Given the description of an element on the screen output the (x, y) to click on. 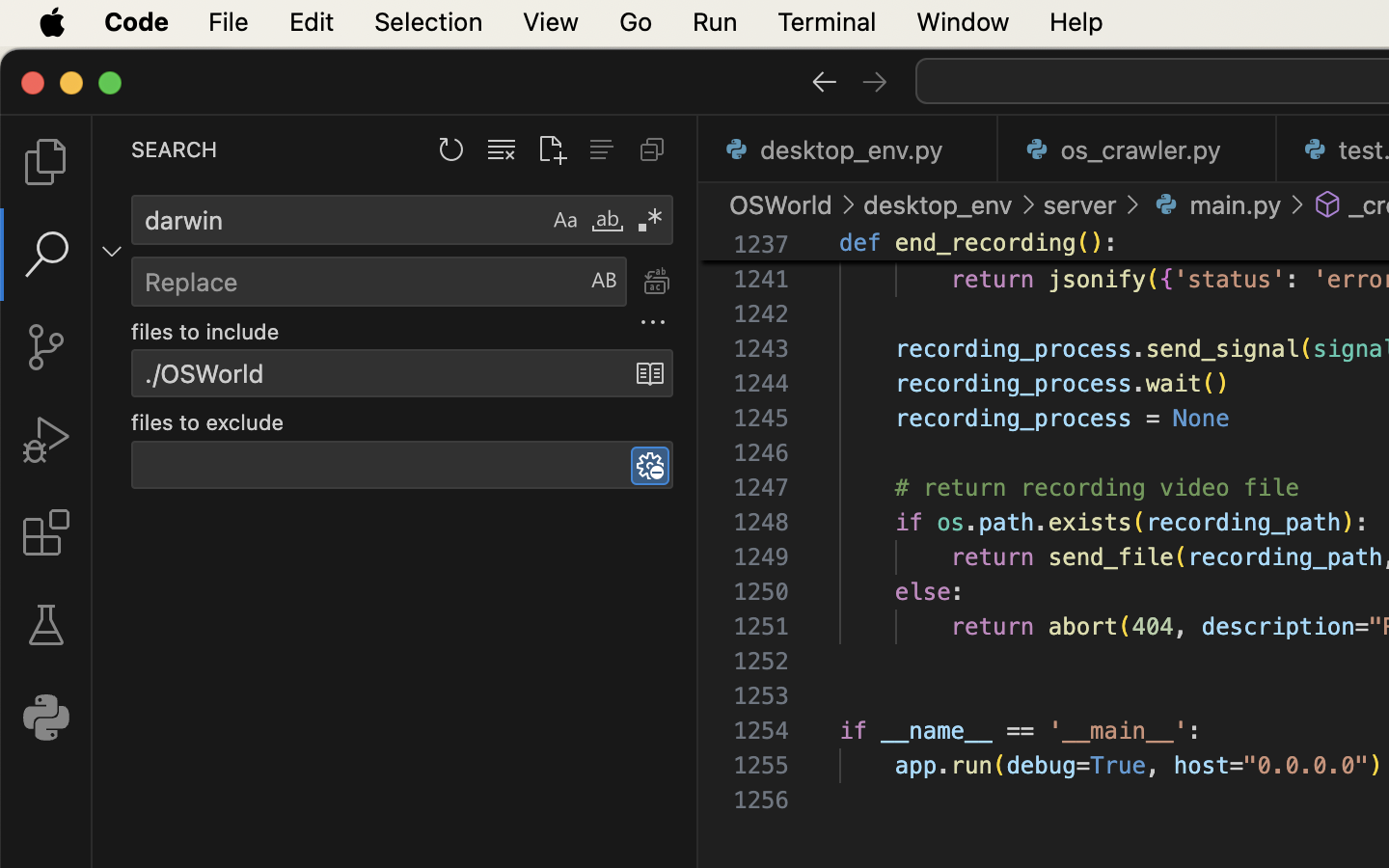
1237 Element type: AXStaticText (761, 244)
 Element type: AXButton (655, 281)
files to include Element type: AXStaticText (205, 332)
SEARCH Element type: AXStaticText (174, 149)
desktop_env Element type: AXGroup (938, 204)
